Given the description of an element on the screen output the (x, y) to click on. 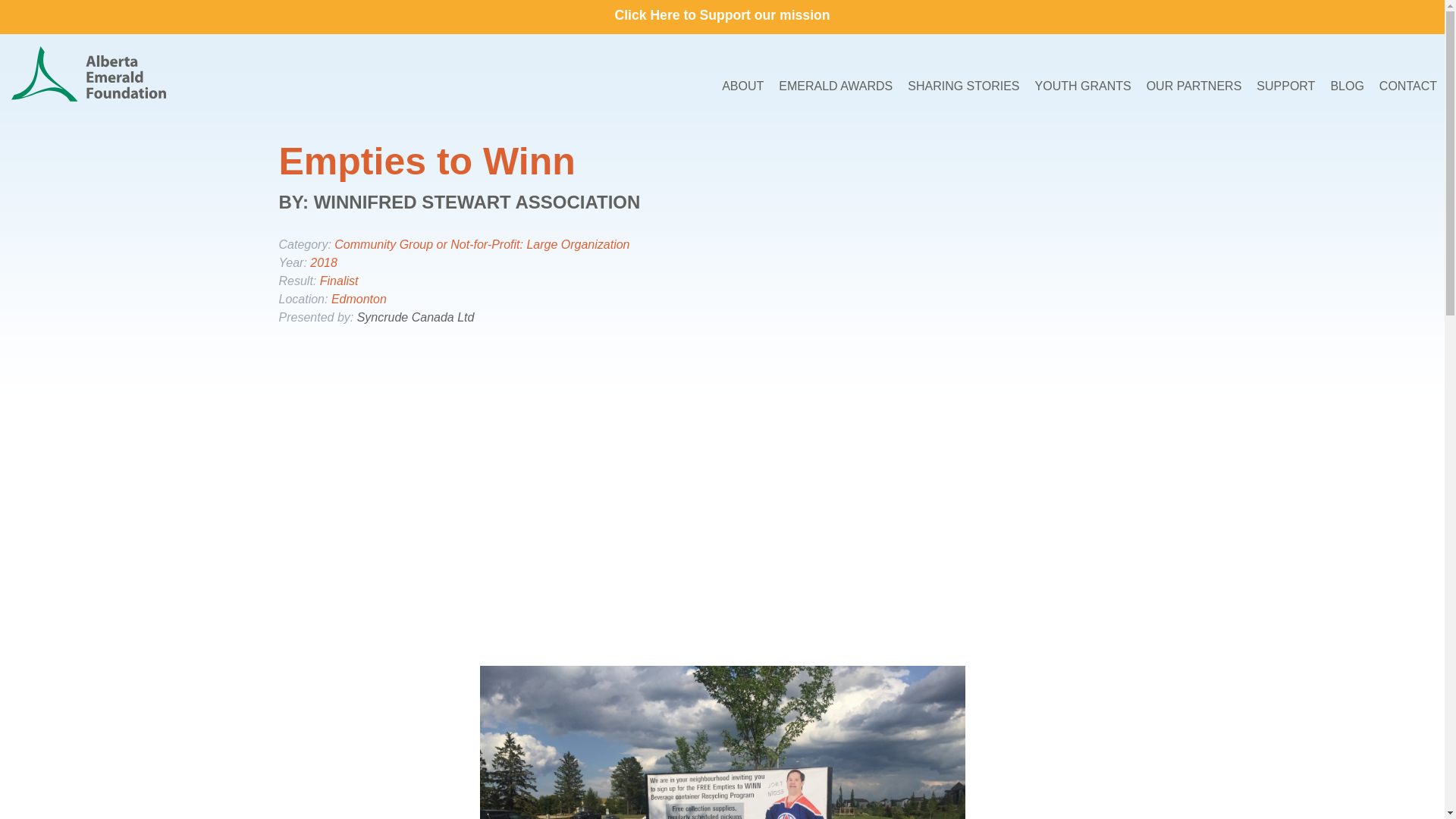
Sharing Stories (962, 85)
SHARING STORIES (962, 85)
YOUTH GRANTS (1082, 85)
Community Group or Not-for-Profit: Large Organization (481, 244)
Youth Grants (1082, 85)
Blog (1346, 85)
Finalist (339, 280)
OUR PARTNERS (1193, 85)
EMERALD AWARDS (835, 85)
Emerald Awards (835, 85)
Edmonton (359, 298)
2018 (323, 262)
ABOUT (742, 85)
About (742, 85)
BLOG (1346, 85)
